Given the description of an element on the screen output the (x, y) to click on. 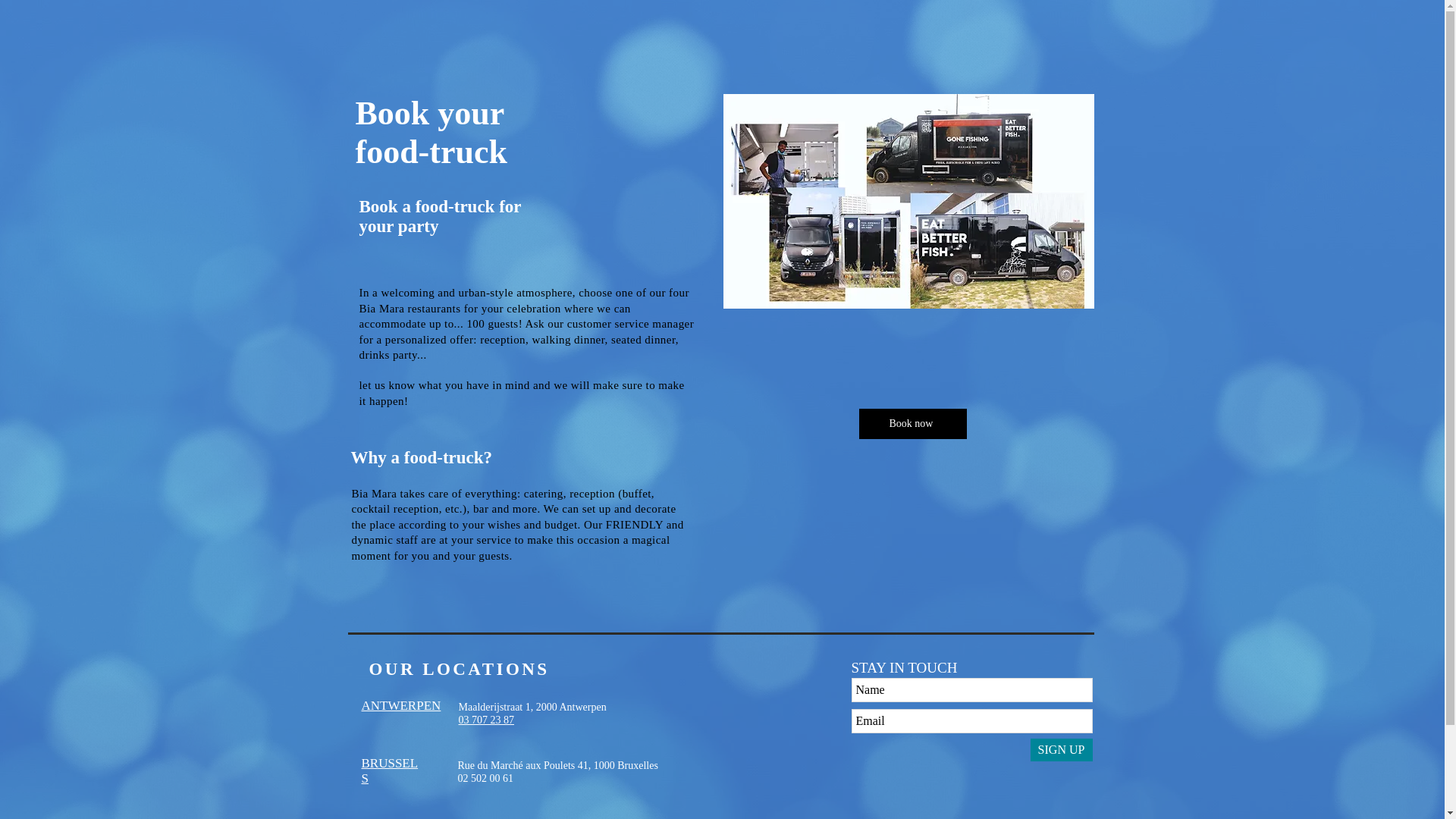
ANTWERPEN (401, 705)
03 707 23 87 (485, 719)
BRUSSELS (389, 770)
Book now (912, 423)
SIGN UP (1060, 749)
